Given the description of an element on the screen output the (x, y) to click on. 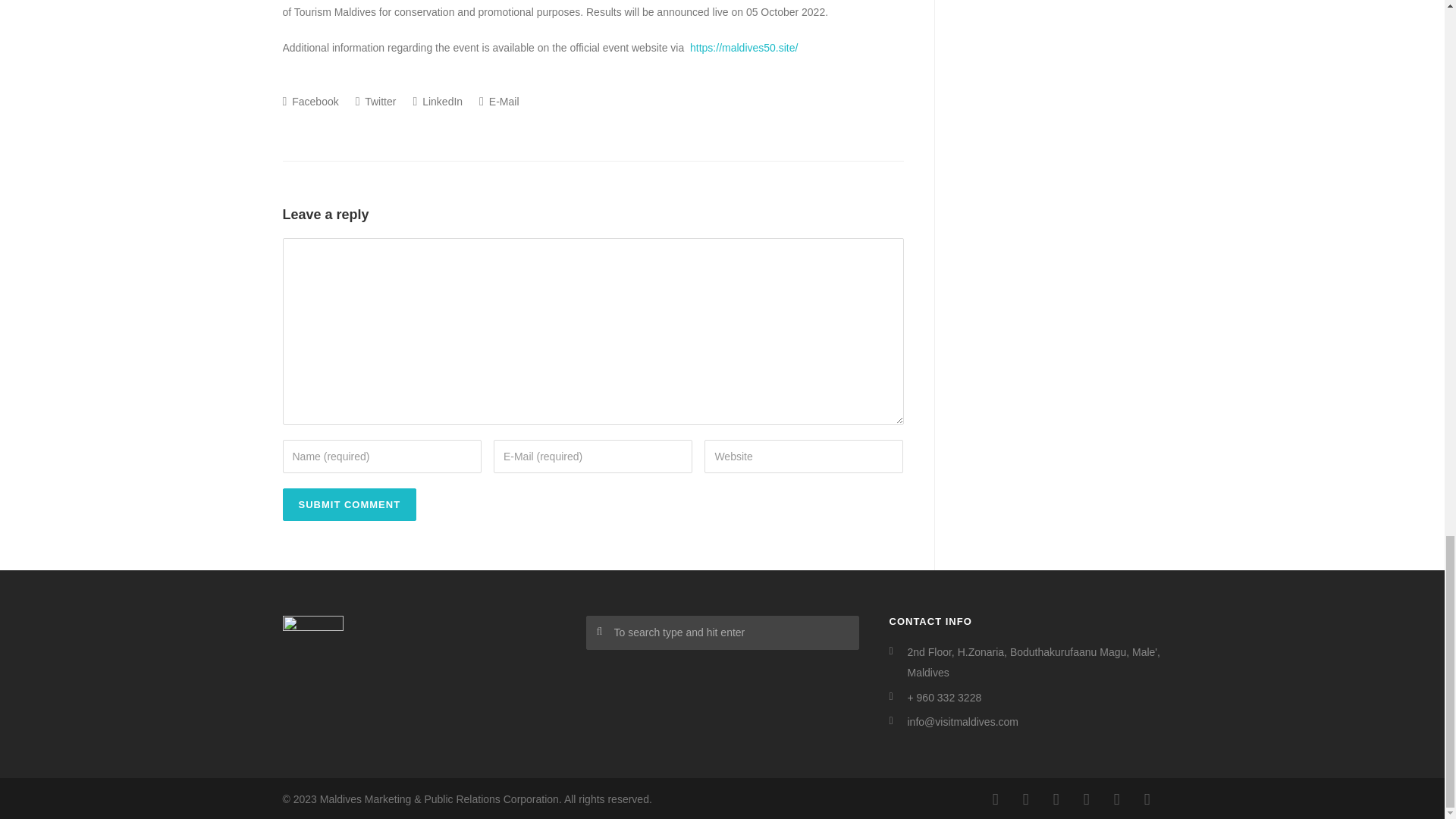
Twitter (1115, 798)
Share via LinkedIn (437, 101)
Share via Twitter (375, 101)
YouTube (1146, 798)
Share via Facebook (309, 101)
Submit Comment (349, 504)
LinkedIn (1055, 798)
Website (803, 456)
Pinterest (1085, 798)
Facebook (994, 798)
